Given the description of an element on the screen output the (x, y) to click on. 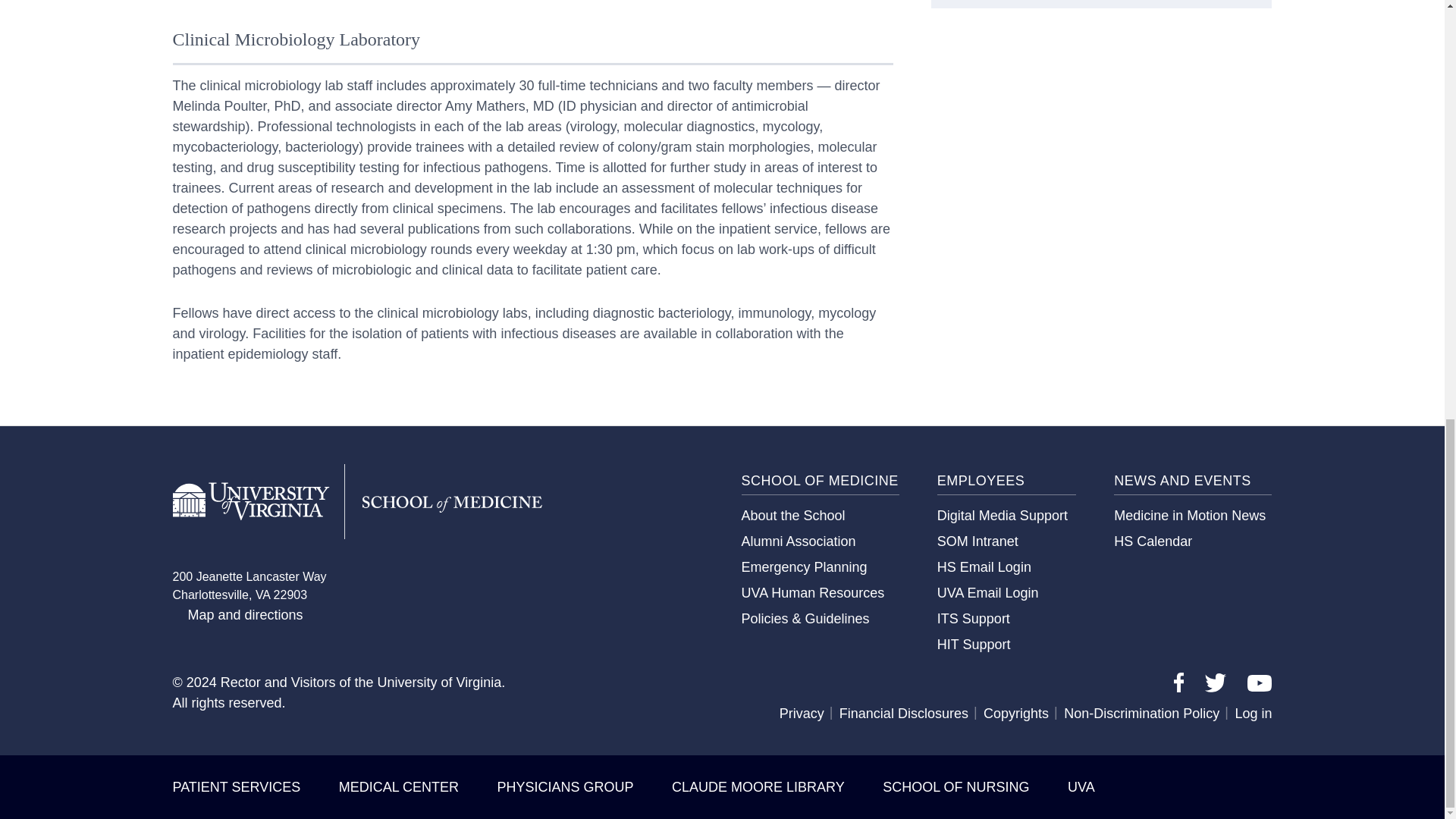
youtube (1259, 682)
Twitter Profile (1215, 687)
twitter (1215, 682)
